Given the description of an element on the screen output the (x, y) to click on. 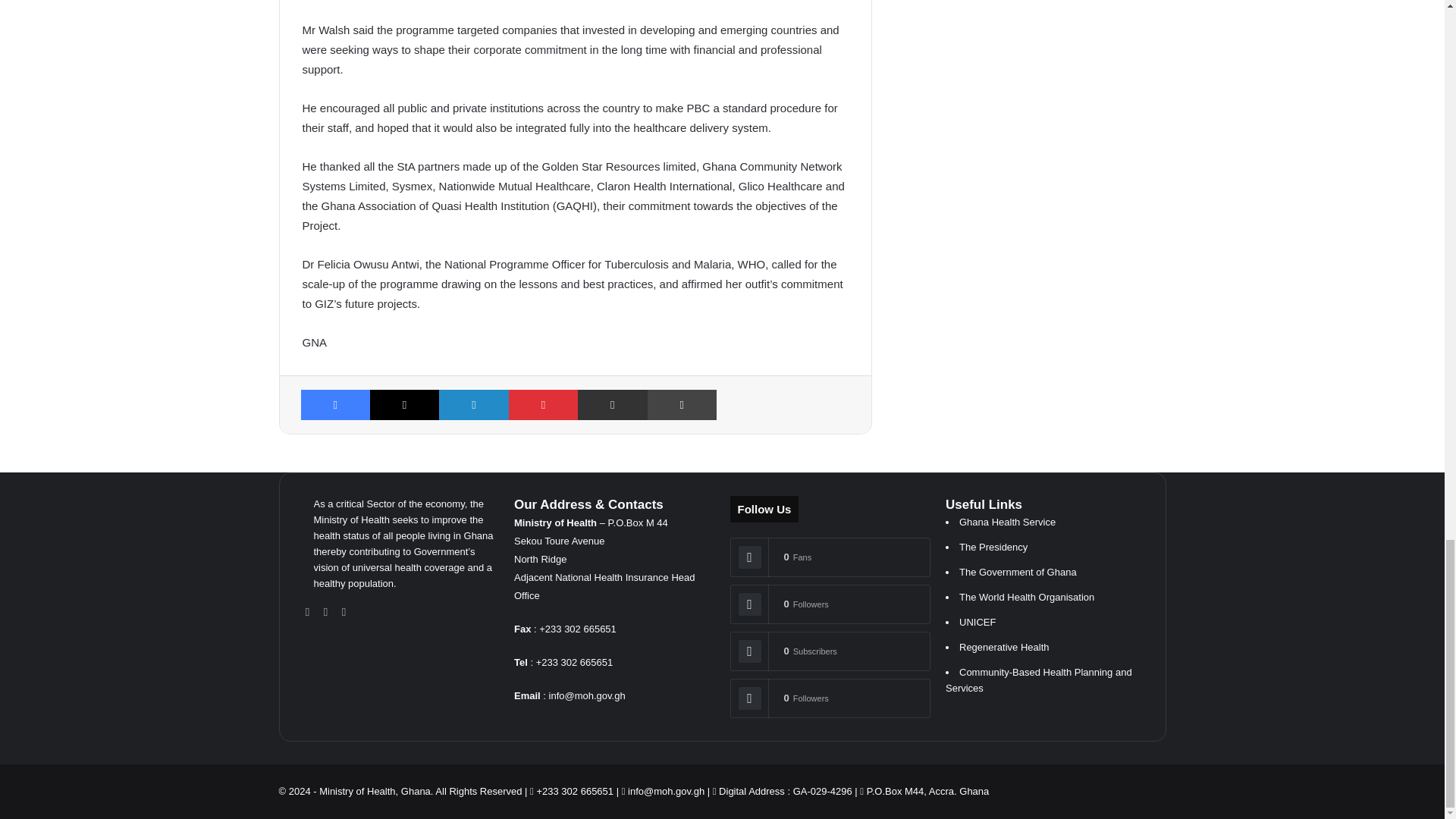
Print (681, 404)
LinkedIn (473, 404)
X (404, 404)
Share via Email (612, 404)
Pinterest (543, 404)
Facebook (334, 404)
